Given the description of an element on the screen output the (x, y) to click on. 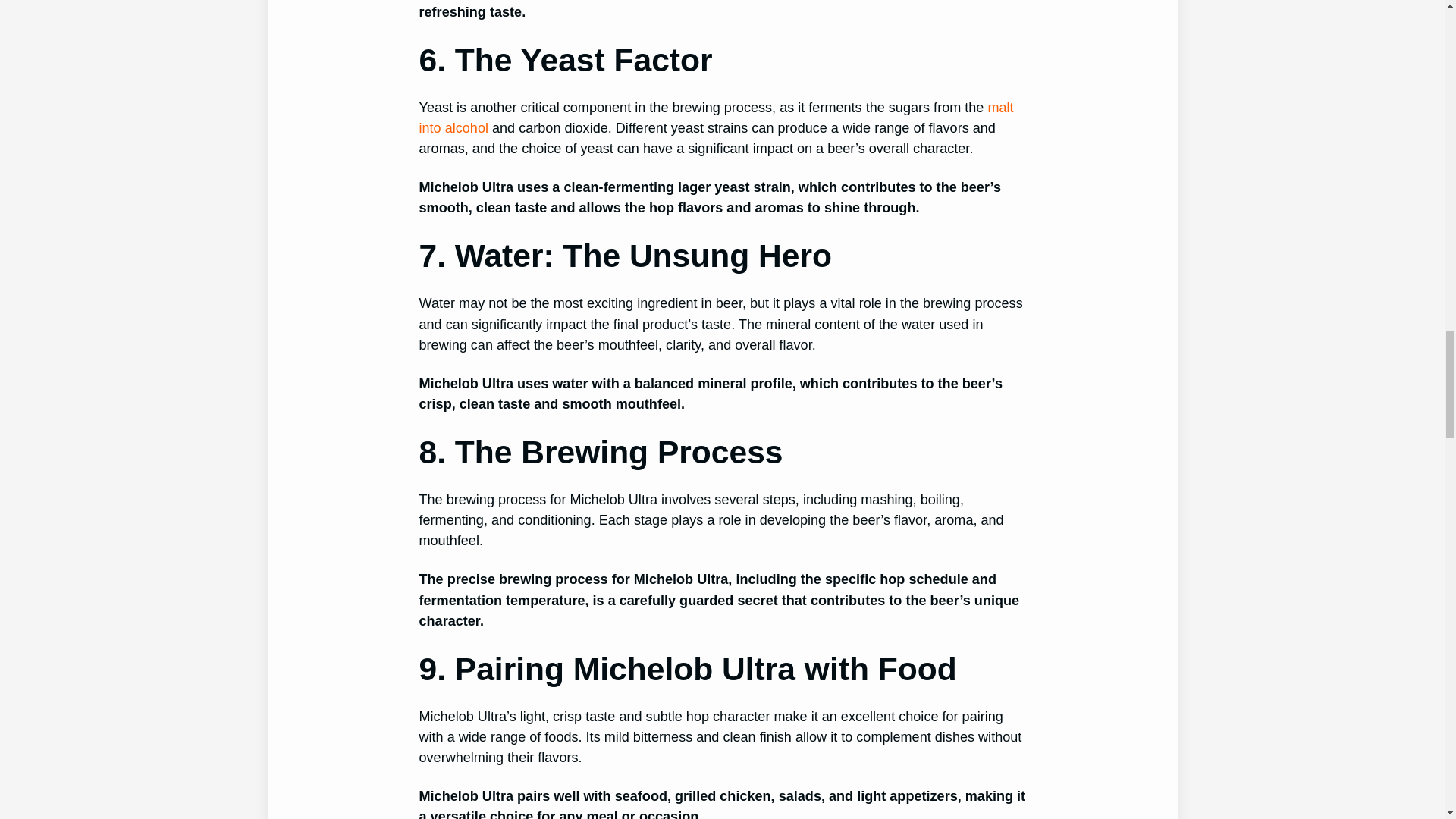
malt into alcohol (716, 117)
